Given the description of an element on the screen output the (x, y) to click on. 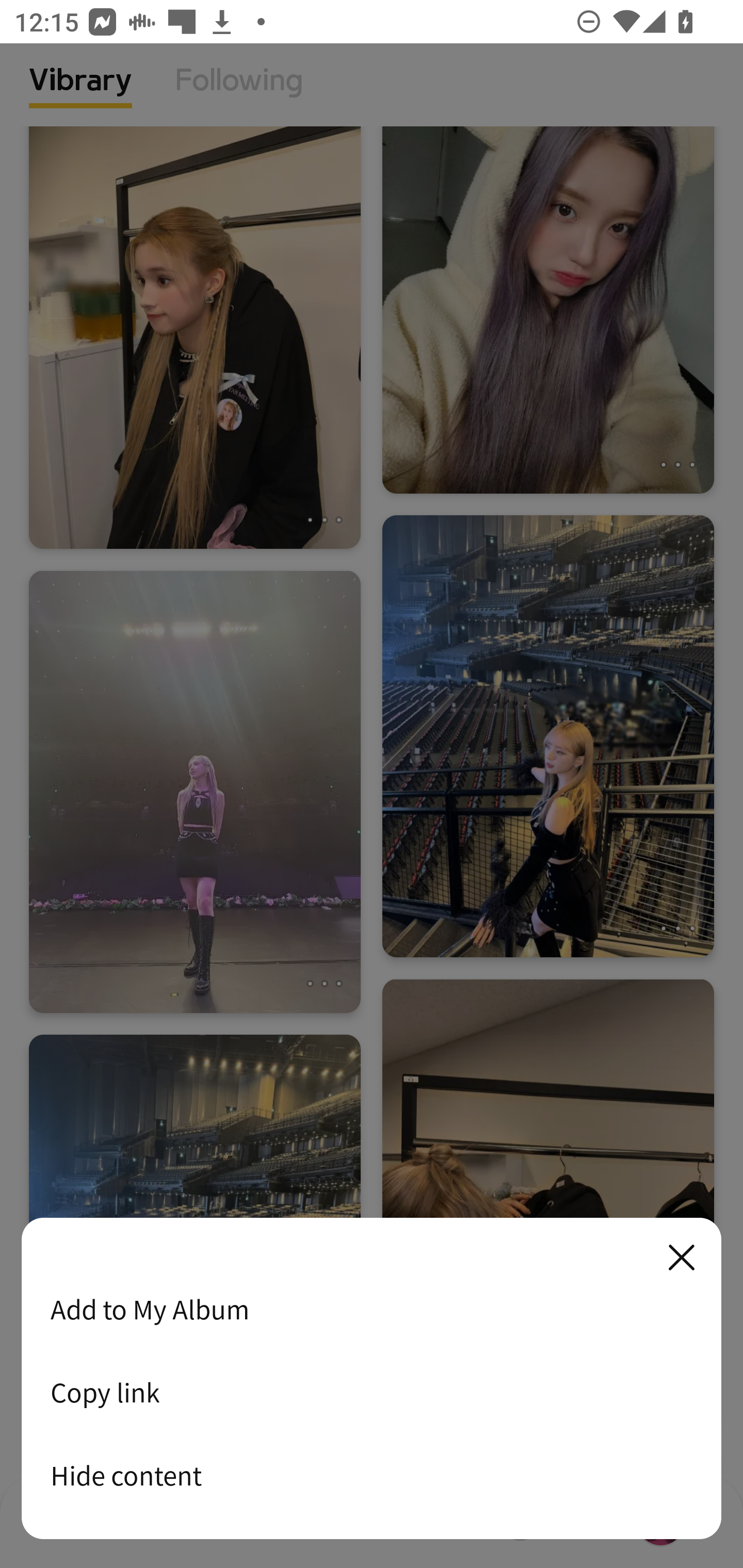
Add to My Album Copy link Hide content (371, 1378)
Add to My Album (371, 1308)
Copy link (371, 1391)
Hide content (371, 1474)
